Given the description of an element on the screen output the (x, y) to click on. 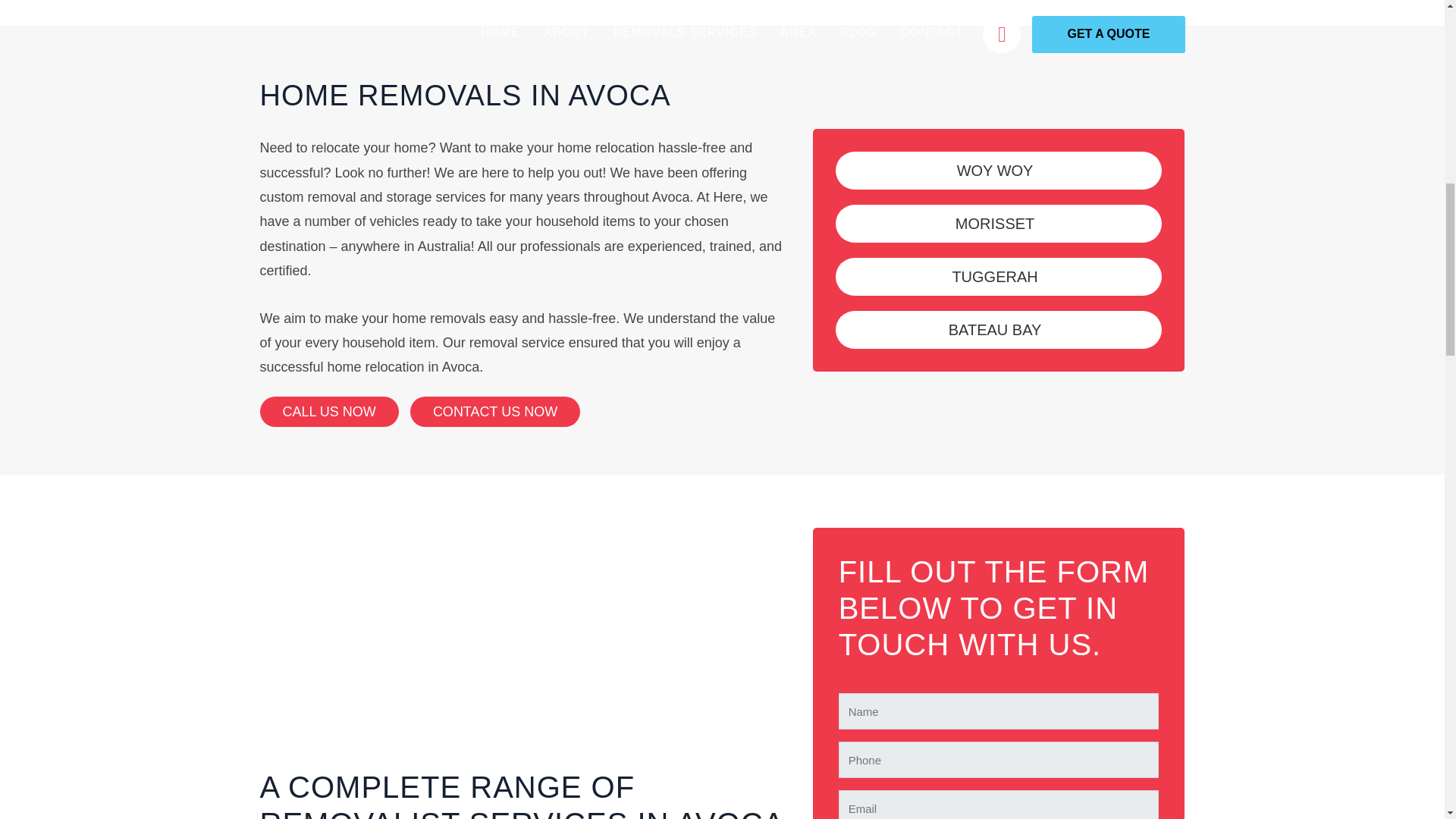
CONTACT US NOW (494, 411)
WOY WOY (994, 170)
TUGGERAH (994, 276)
BATEAU BAY (994, 329)
MORISSET (994, 223)
CALL US NOW (328, 411)
